Given the description of an element on the screen output the (x, y) to click on. 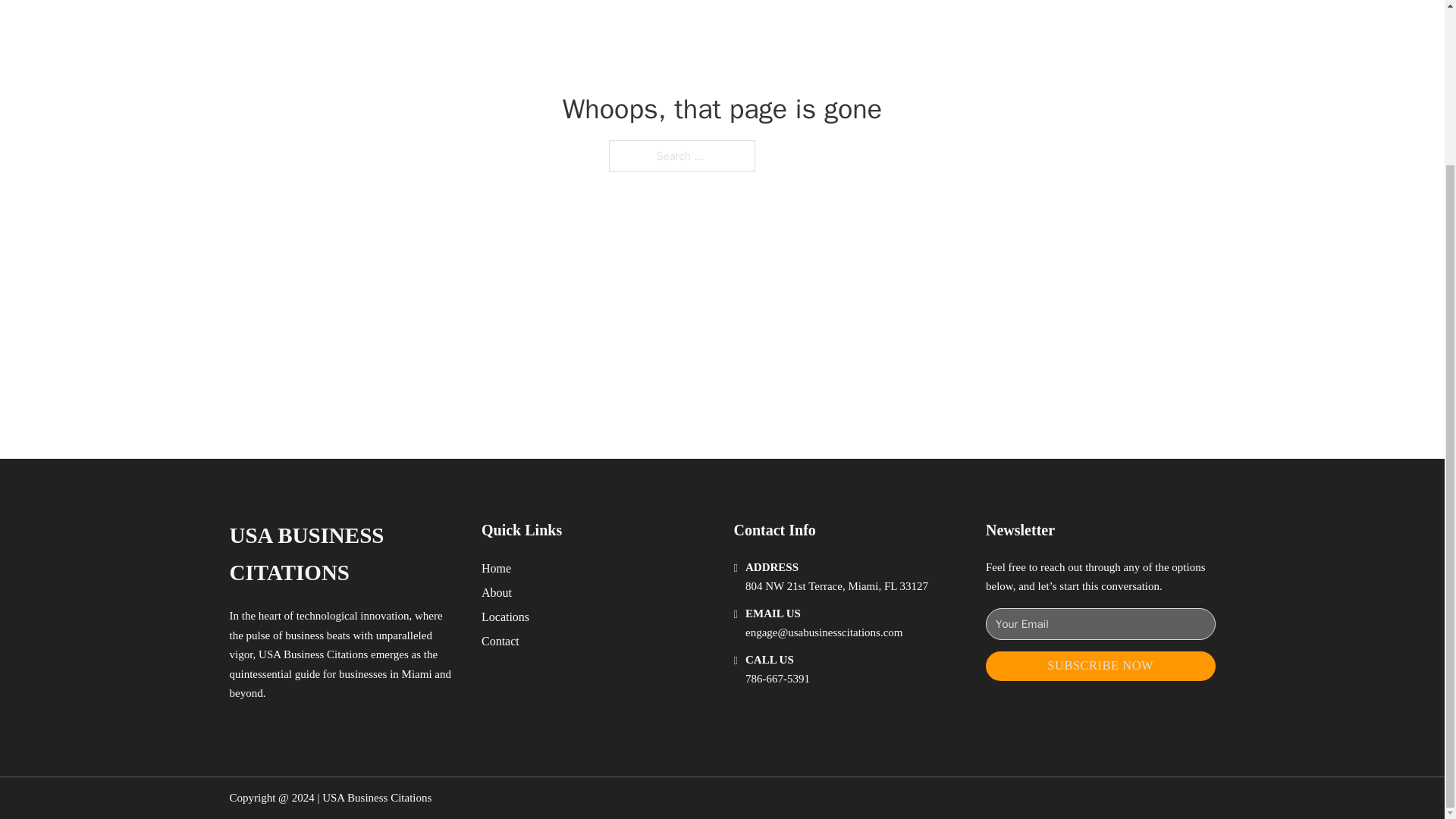
USA BUSINESS CITATIONS (343, 554)
Contact (500, 640)
786-667-5391 (777, 678)
About (496, 592)
Locations (505, 616)
SUBSCRIBE NOW (1100, 665)
Home (496, 567)
